Given the description of an element on the screen output the (x, y) to click on. 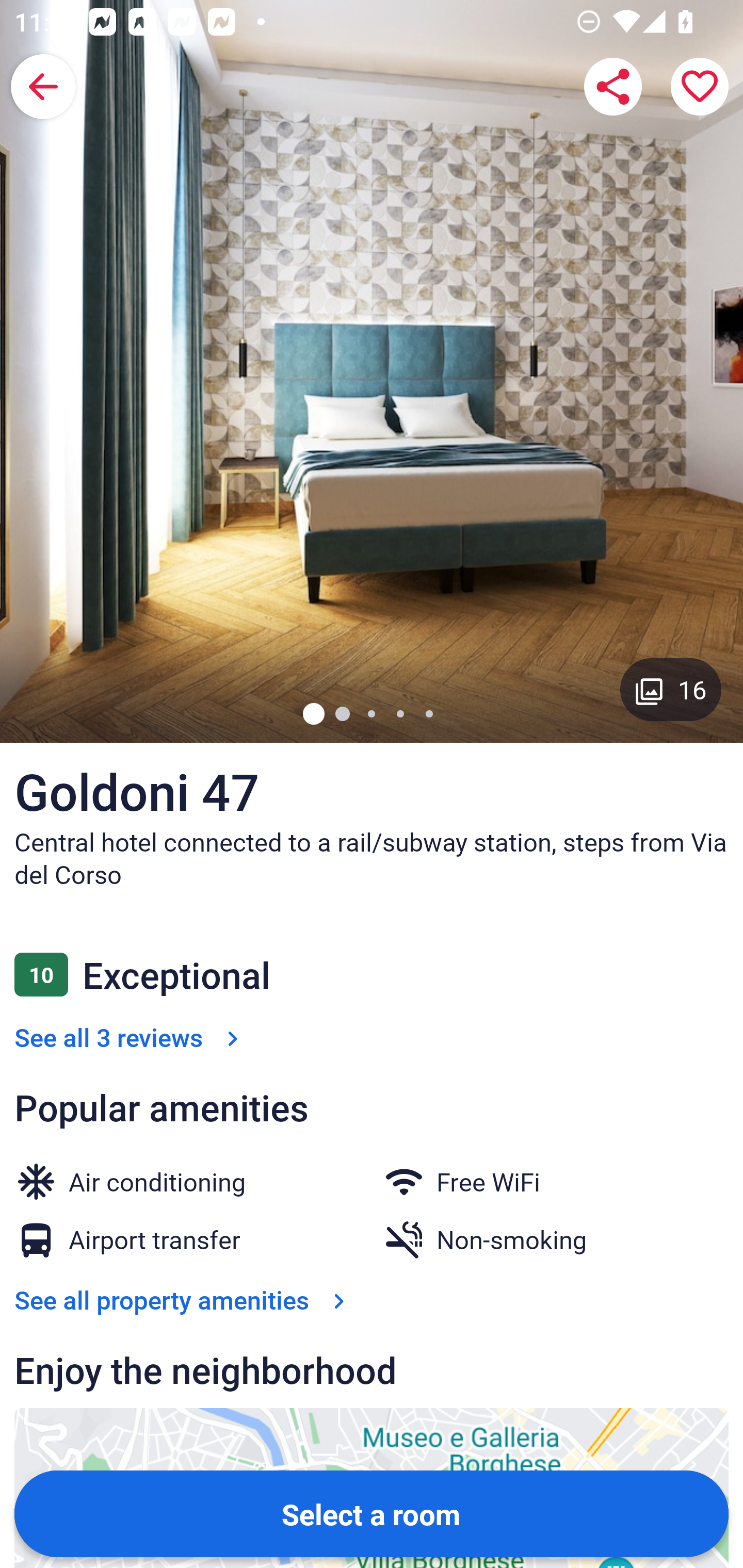
Back (43, 86)
Save property to a trip (699, 86)
Share Goldoni 47 (612, 87)
Gallery button with 16 images (670, 689)
See all 3 reviews See all 3 reviews Link (130, 1037)
See all property amenities (183, 1299)
Select a room Button Select a room (371, 1513)
